Given the description of an element on the screen output the (x, y) to click on. 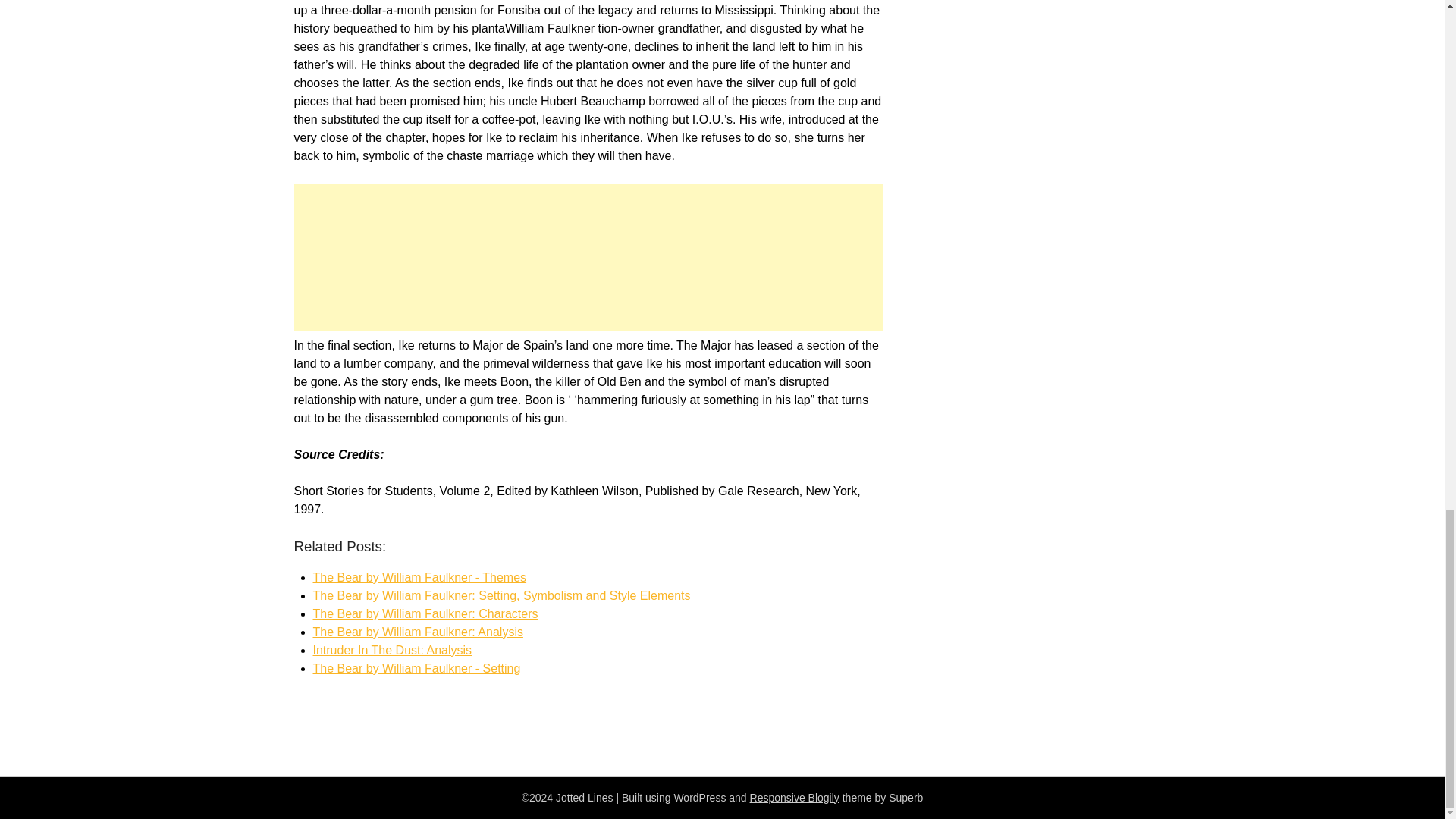
The Bear by William Faulkner - Setting (416, 667)
The Bear by William Faulkner - Themes (419, 576)
Intruder In The Dust: Analysis (392, 649)
Responsive Blogily (794, 797)
The Bear by William Faulkner: Characters (425, 613)
The Bear by William Faulkner: Analysis (417, 631)
